Given the description of an element on the screen output the (x, y) to click on. 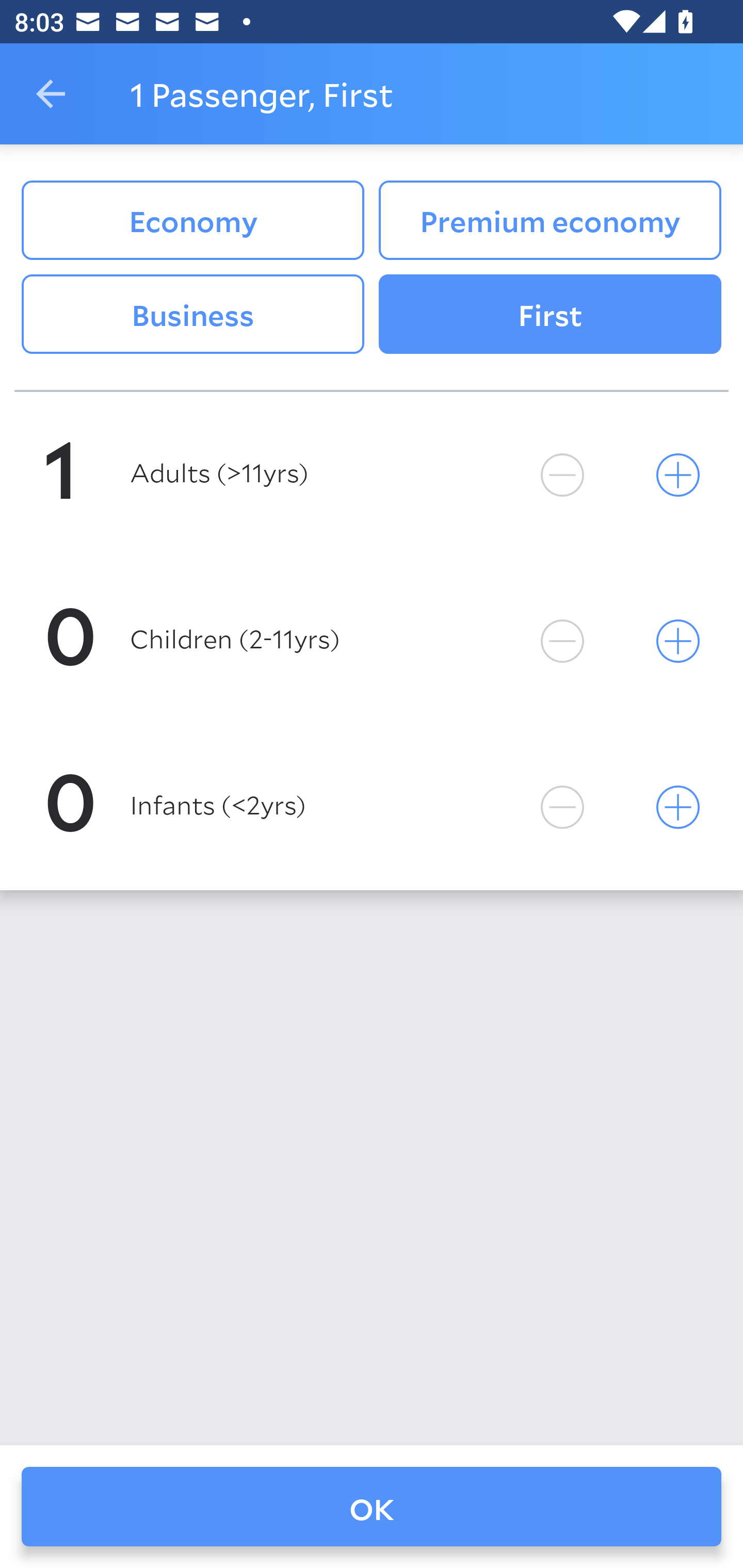
Navigate up (50, 93)
Economy (192, 220)
Premium economy (549, 220)
Business (192, 314)
First (549, 314)
OK (371, 1506)
